Given the description of an element on the screen output the (x, y) to click on. 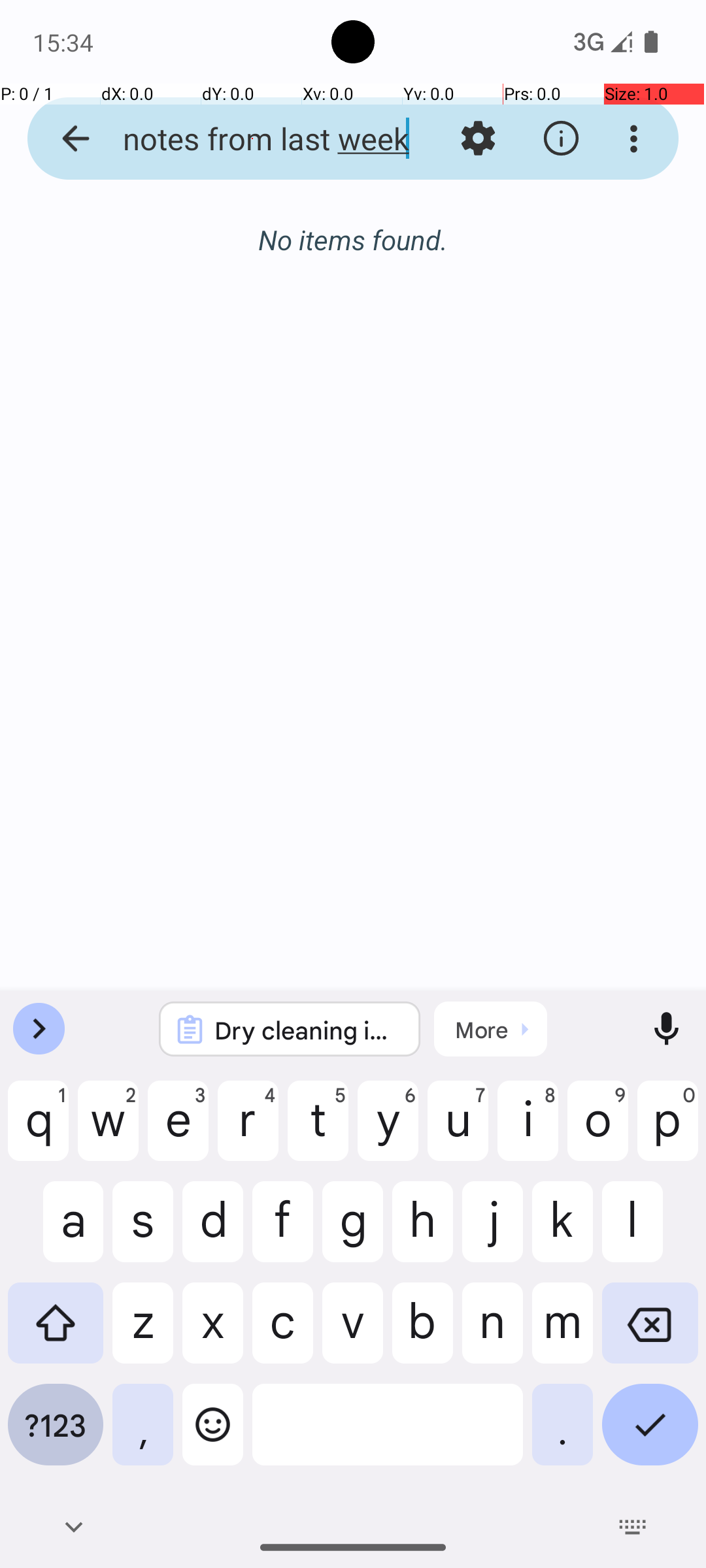
Meeting notes from last week Element type: android.widget.EditText (252, 138)
No stored conversations have been found Element type: android.widget.TextView (353, 246)
Start a conversation Element type: android.widget.TextView (352, 311)
